Given the description of an element on the screen output the (x, y) to click on. 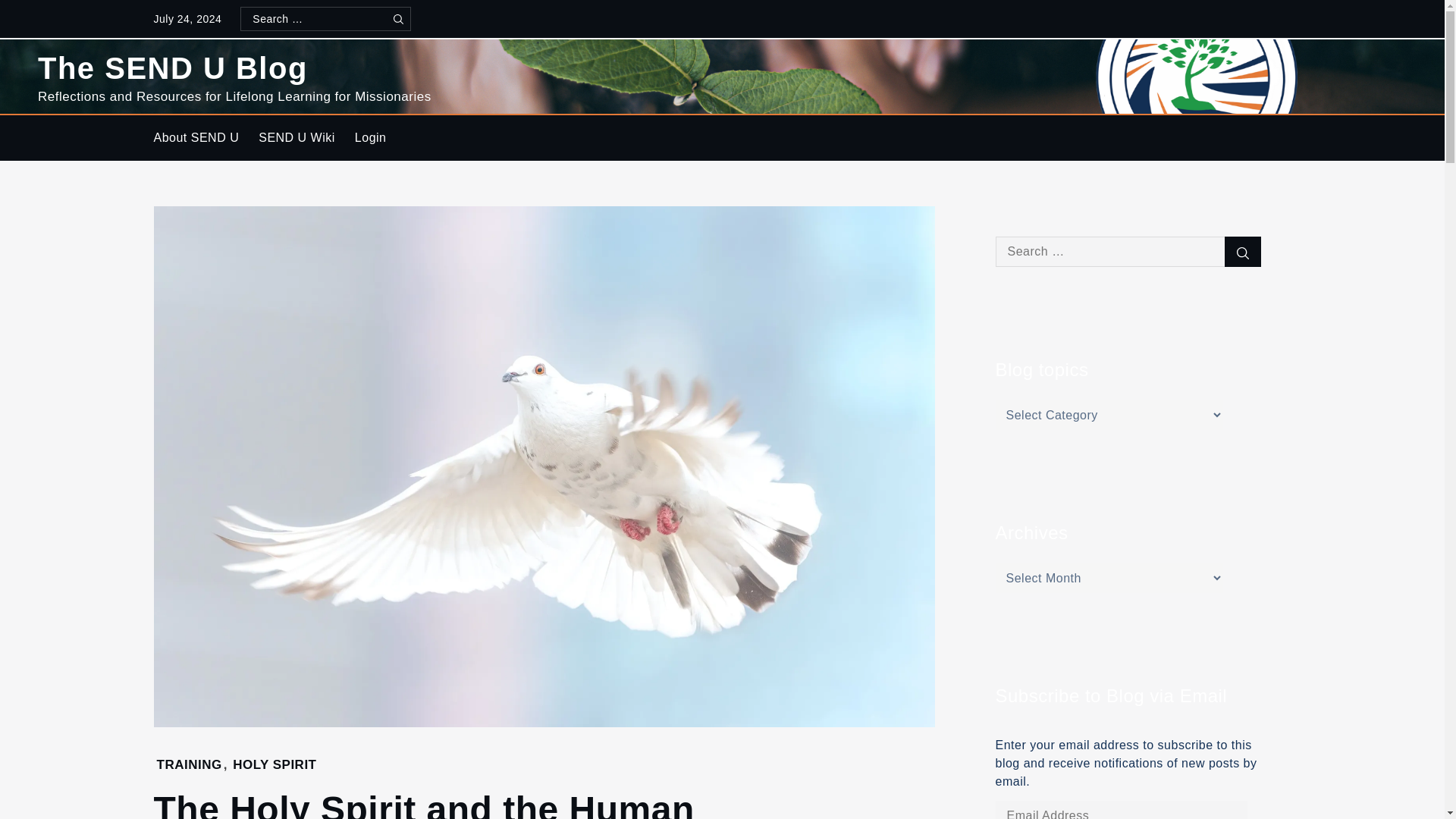
Search (397, 18)
TRAINING (188, 764)
SEND U Wiki (296, 137)
The SEND U Blog (172, 68)
HOLY SPIRIT (273, 764)
Login (370, 137)
About SEND U (196, 137)
